Given the description of an element on the screen output the (x, y) to click on. 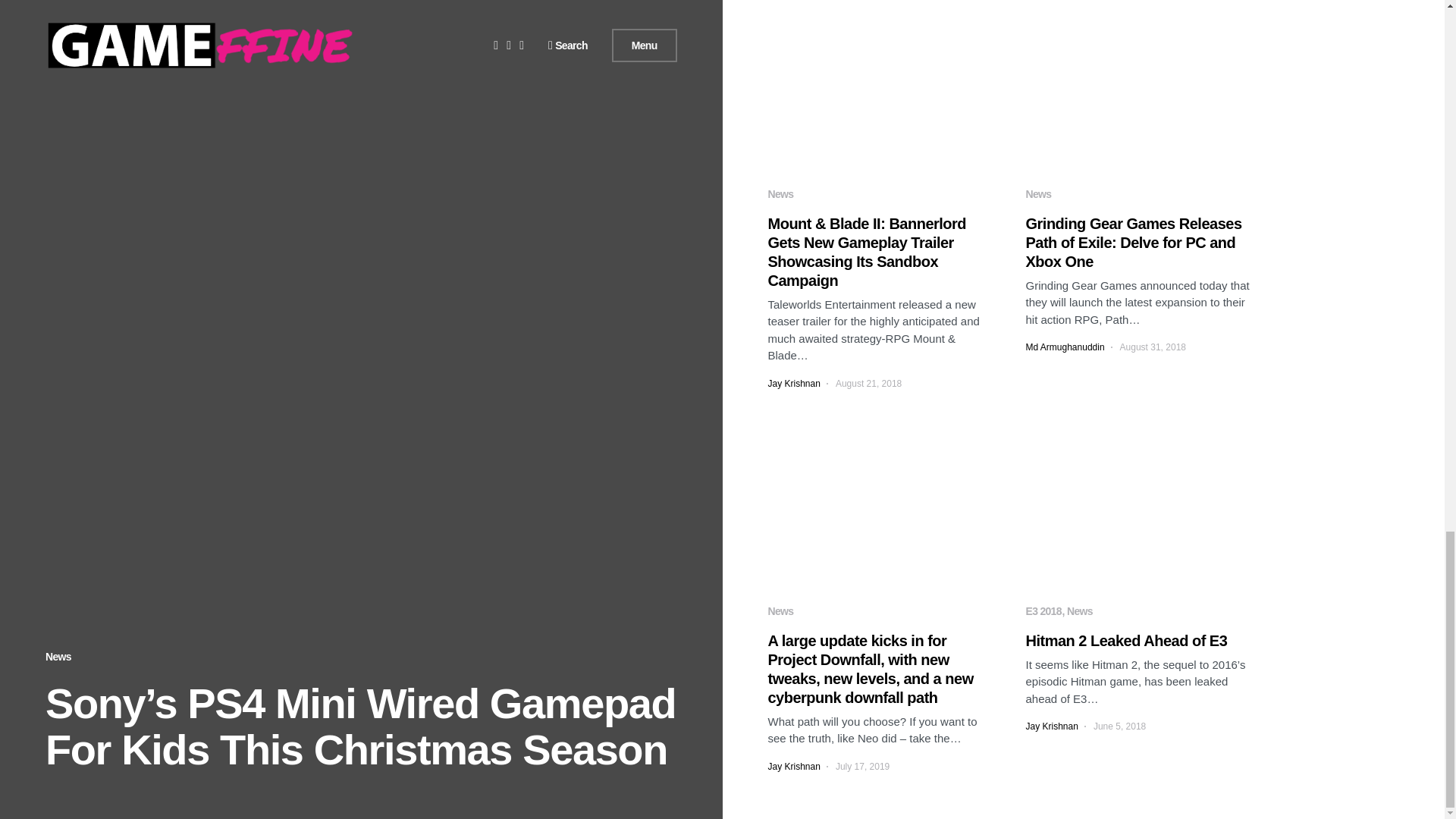
View all posts by Jay Krishnan (793, 383)
View all posts by Jay Krishnan (793, 766)
View all posts by Md Armughanuddin (1064, 346)
View all posts by Jay Krishnan (1051, 726)
